Given the description of an element on the screen output the (x, y) to click on. 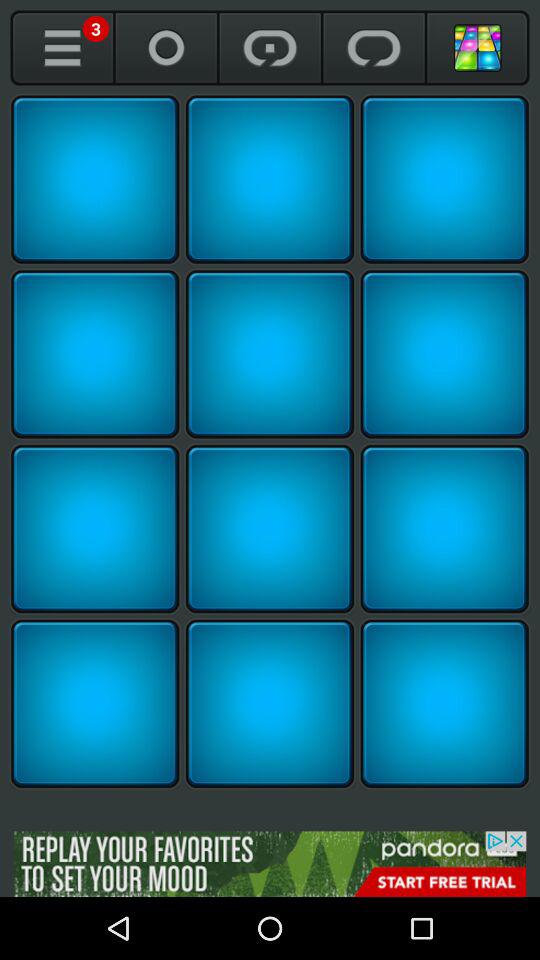
select a different board (477, 47)
